Given the description of an element on the screen output the (x, y) to click on. 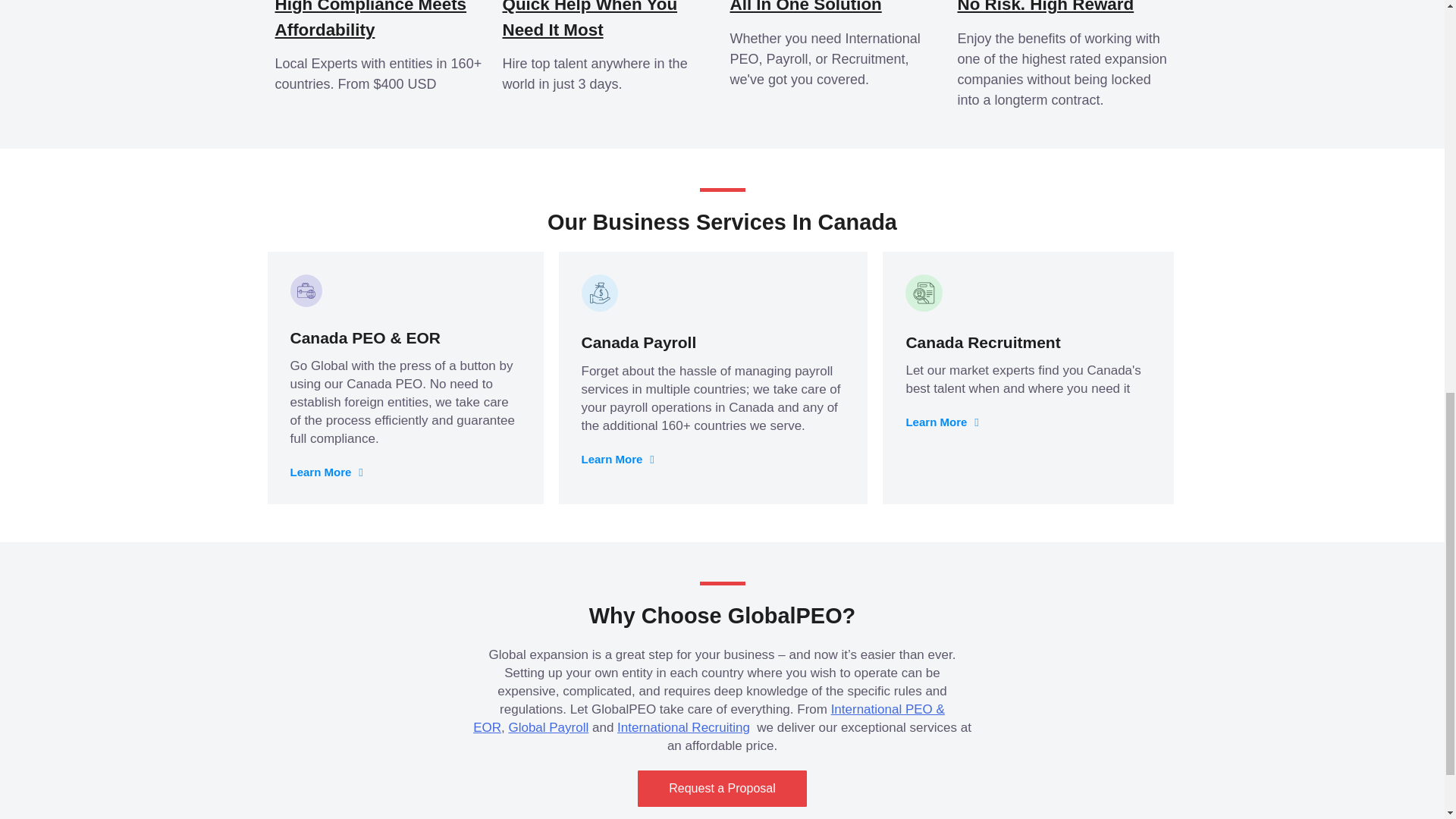
Learn More (616, 459)
Learn More (941, 422)
All In One Solution (835, 8)
Quick Help When You Need It Most (589, 19)
Global Payroll (548, 727)
International Recruiting (683, 727)
Learn More (325, 472)
No Risk. High Reward (1045, 6)
High Compliance Meets Affordability (370, 19)
Request a Proposal (721, 788)
